Given the description of an element on the screen output the (x, y) to click on. 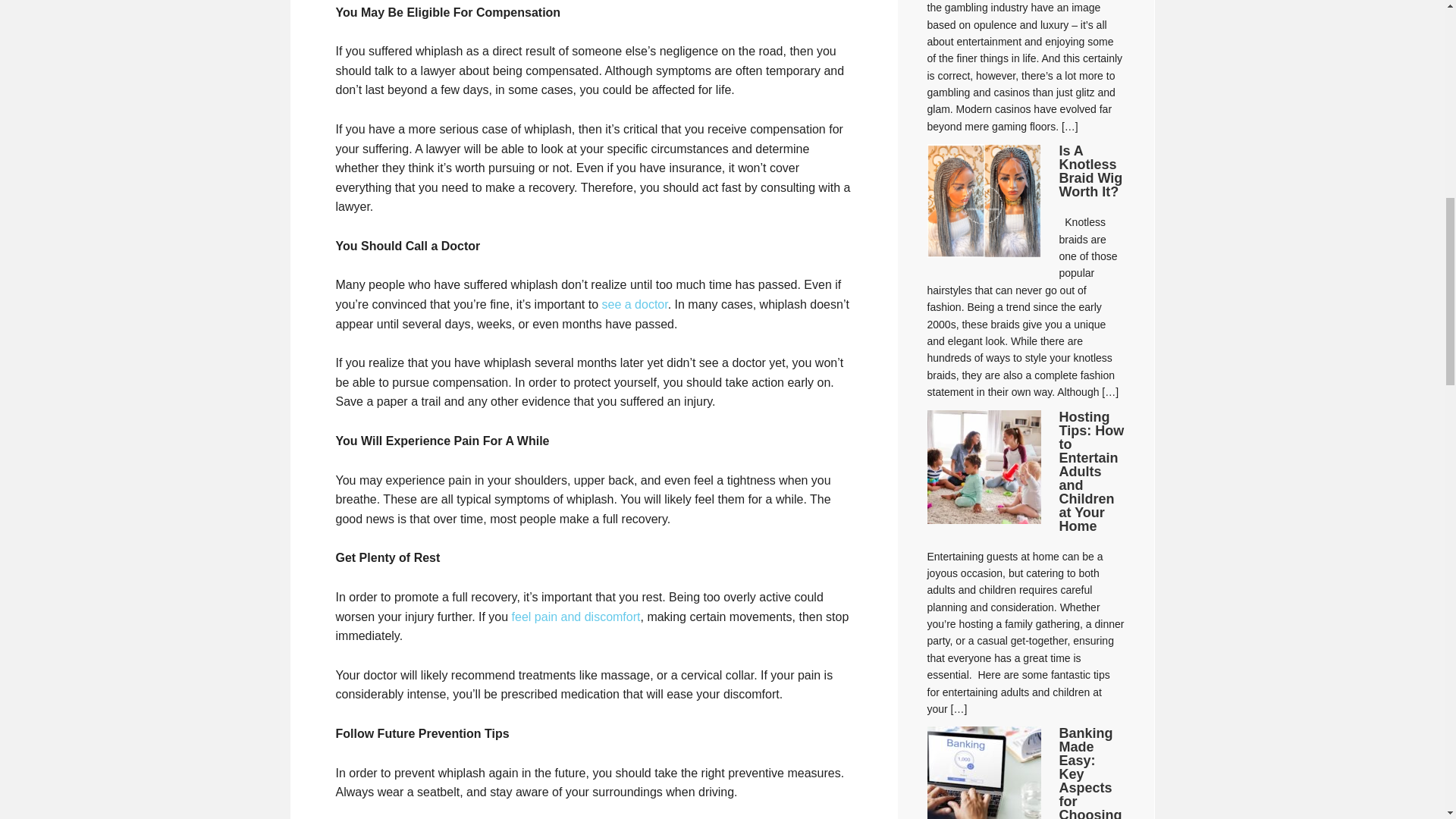
Is A Knotless Braid Wig Worth It? (1090, 171)
feel pain and discomfort (576, 616)
see a doctor (635, 304)
